Given the description of an element on the screen output the (x, y) to click on. 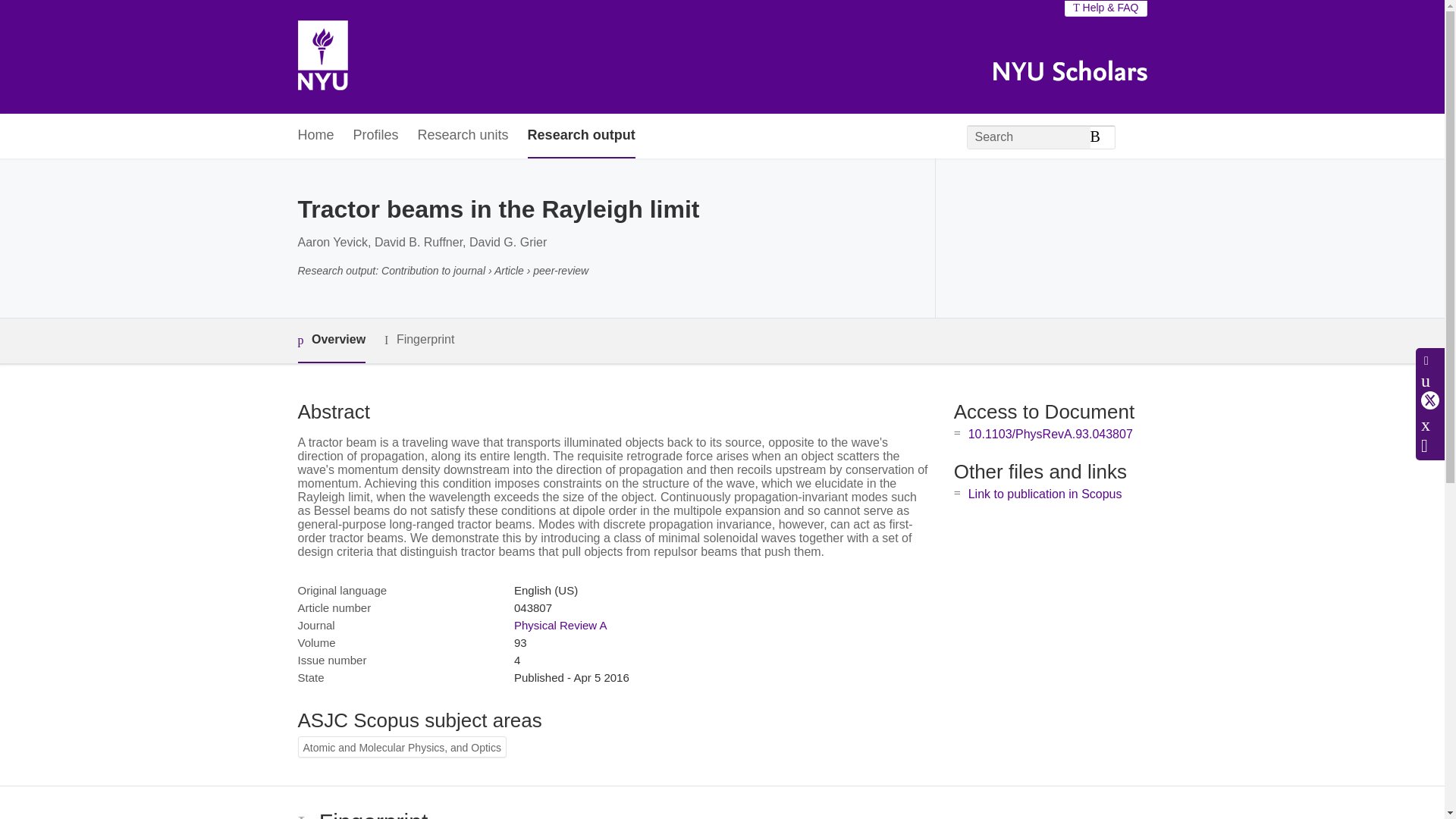
Research units (462, 135)
Physical Review A (560, 625)
Profiles (375, 135)
Research output (580, 135)
Link to publication in Scopus (1045, 493)
Fingerprint (419, 339)
Overview (331, 340)
